Given the description of an element on the screen output the (x, y) to click on. 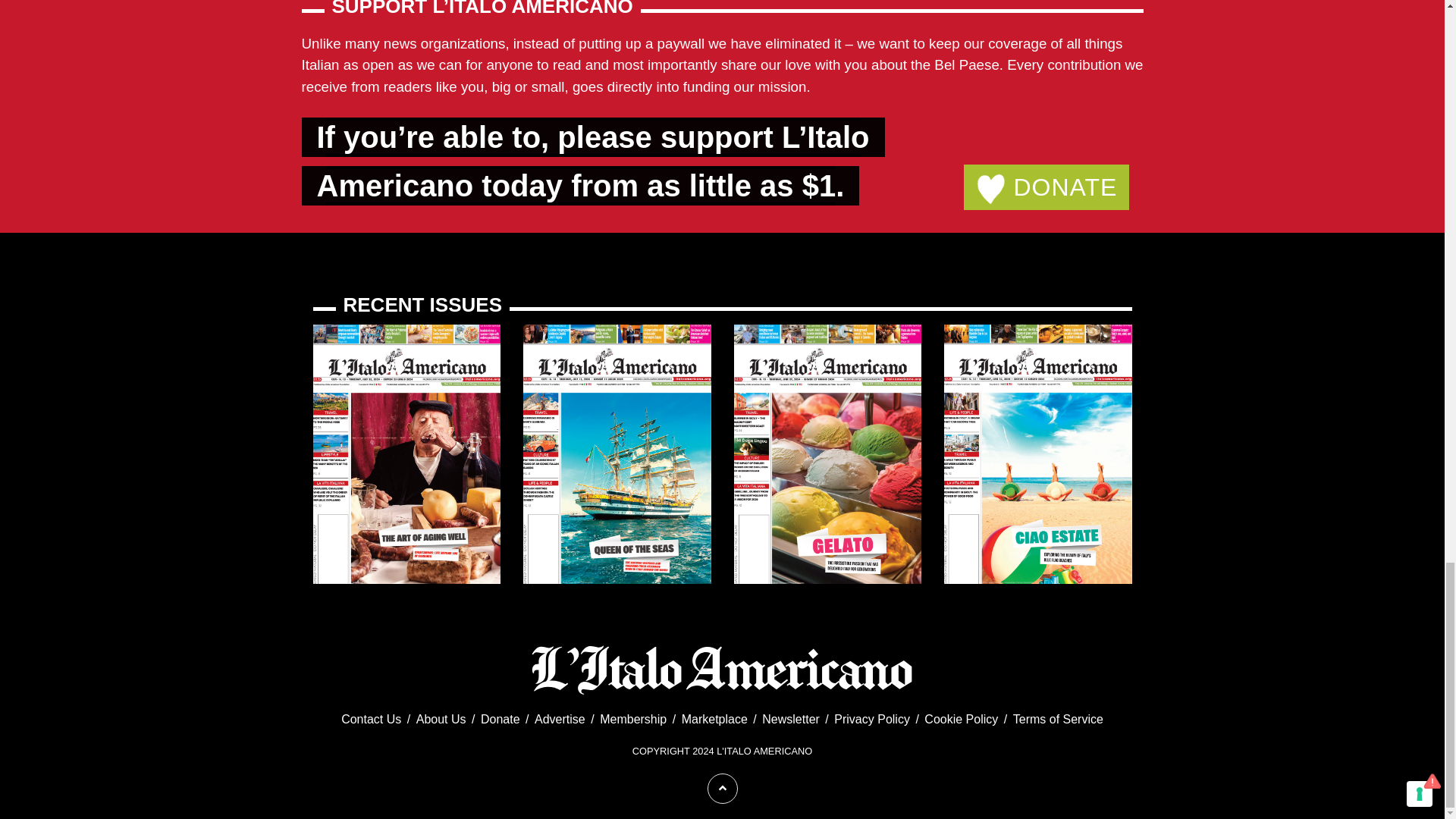
issue-6-13-24 (1037, 453)
issue-7-25-24 (406, 453)
issue-6-27-24 (827, 453)
issue-7-11-24 (616, 453)
donate-btn-heart (990, 188)
logo-white (721, 669)
